Given the description of an element on the screen output the (x, y) to click on. 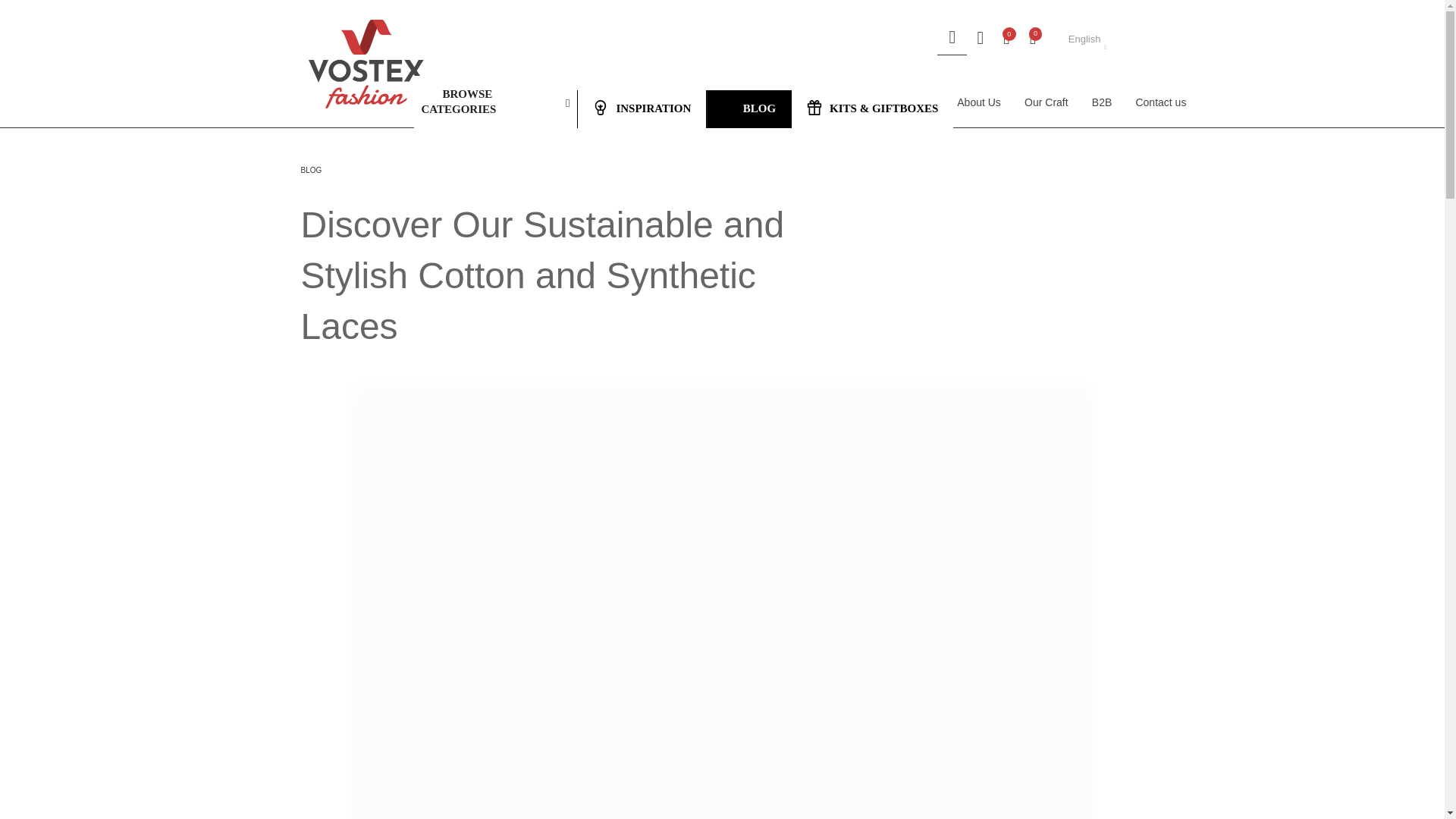
English (1085, 39)
vostexfashion.com (364, 64)
